Given the description of an element on the screen output the (x, y) to click on. 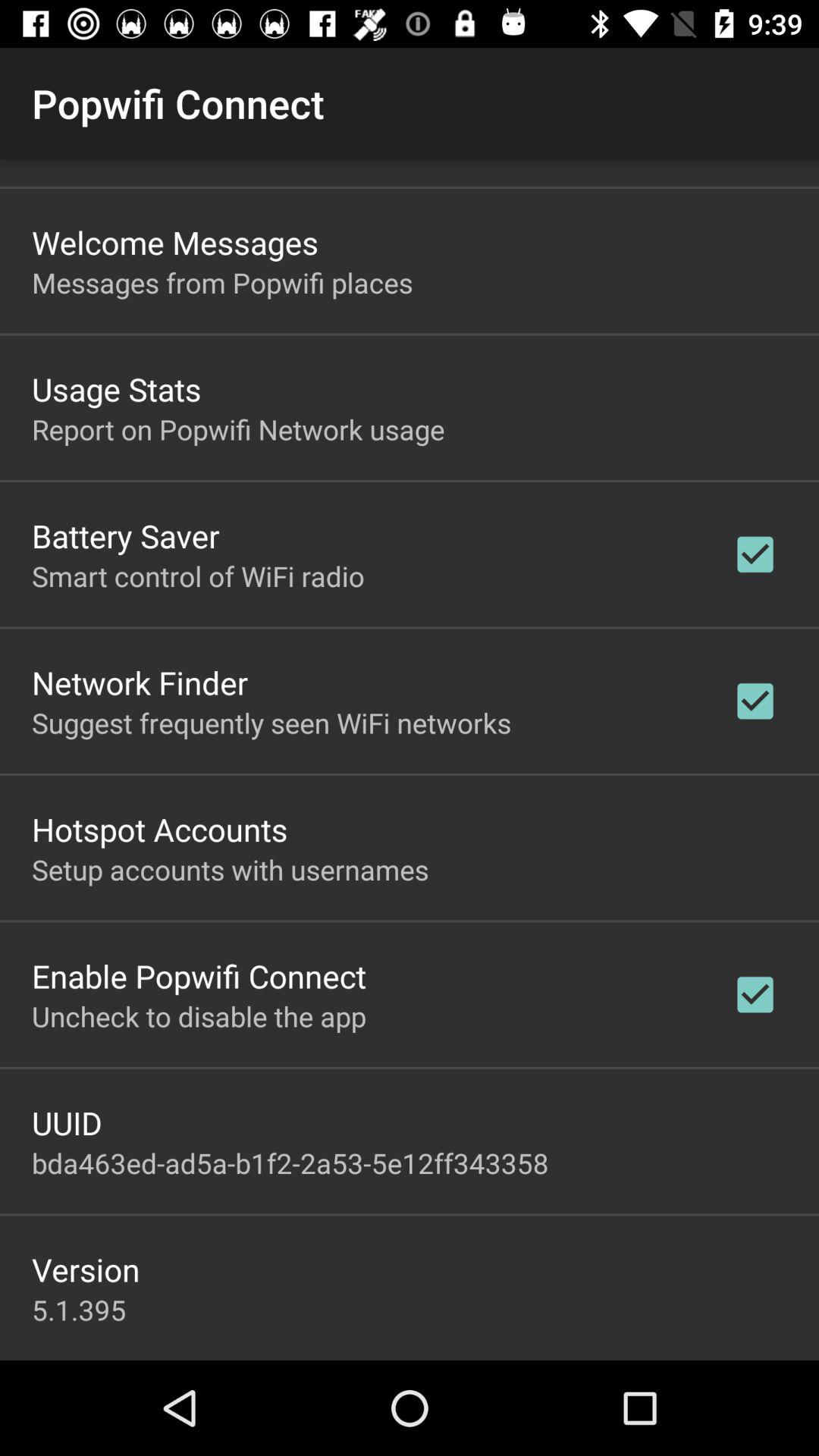
open item below smart control of icon (139, 682)
